Given the description of an element on the screen output the (x, y) to click on. 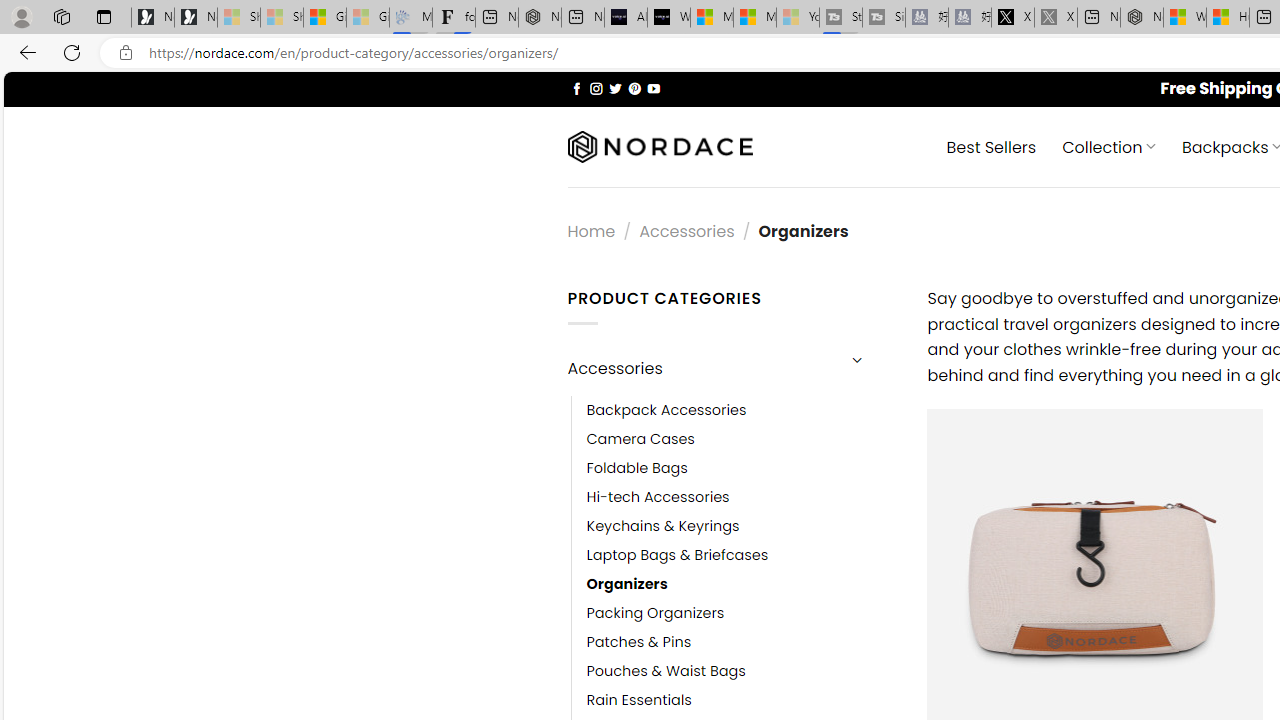
Keychains & Keyrings (662, 526)
Follow on YouTube (653, 88)
